Given the description of an element on the screen output the (x, y) to click on. 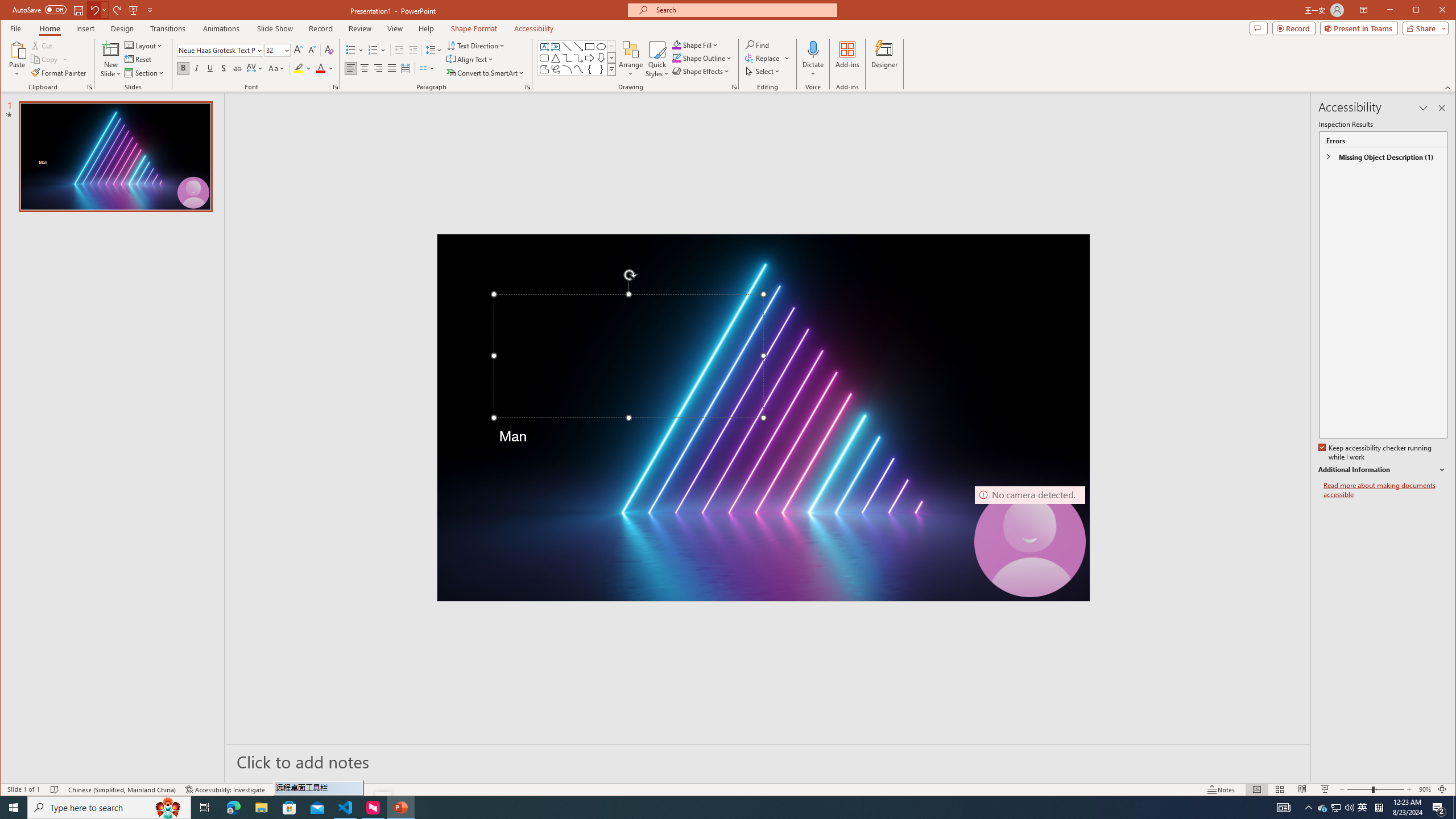
Underline (209, 68)
Format Painter (59, 72)
Select (763, 70)
Increase Indent (412, 49)
Additional Information (1382, 469)
Arrow: Down (601, 57)
Search highlights icon opens search home window (167, 807)
Shape Format (473, 28)
Text Box (544, 46)
Connector: Elbow (567, 57)
